Given the description of an element on the screen output the (x, y) to click on. 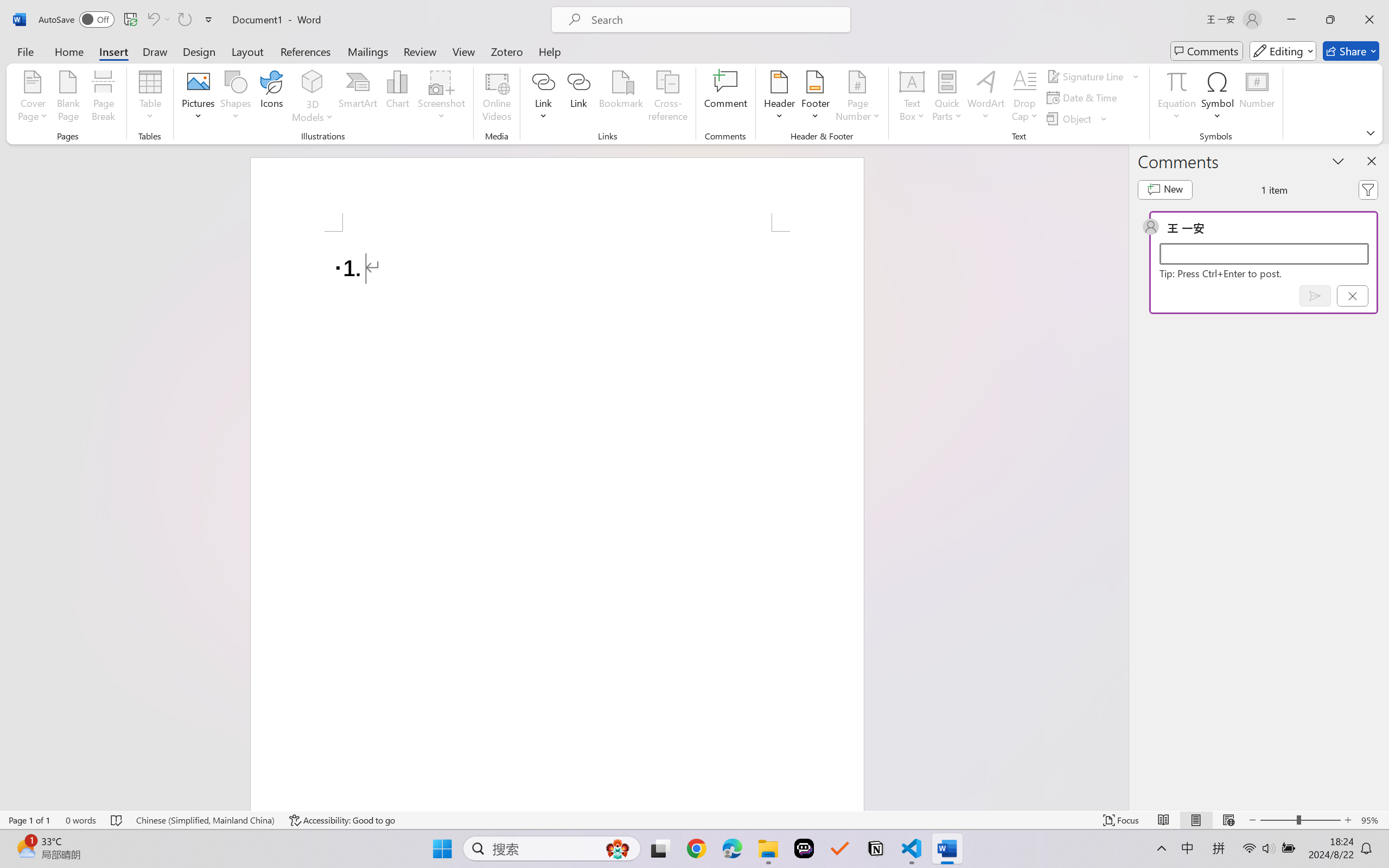
Quick Parts (946, 97)
Icons (271, 97)
